Given the description of an element on the screen output the (x, y) to click on. 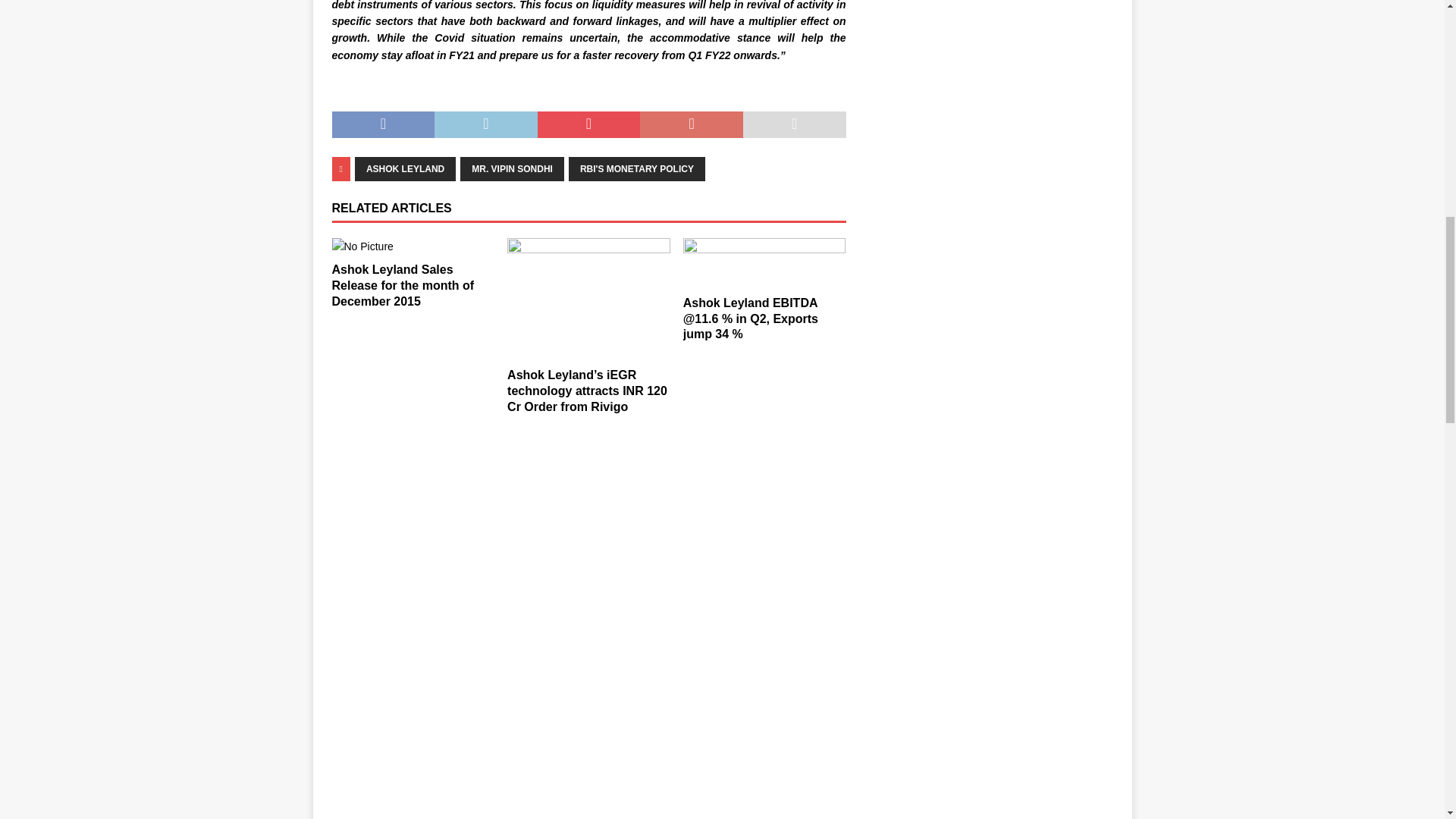
Ashok Leyland Sales Release for the month of December 2015 (402, 284)
RBI'S MONETARY POLICY (636, 168)
MR. VIPIN SONDHI (512, 168)
ASHOK LEYLAND (405, 168)
